Given the description of an element on the screen output the (x, y) to click on. 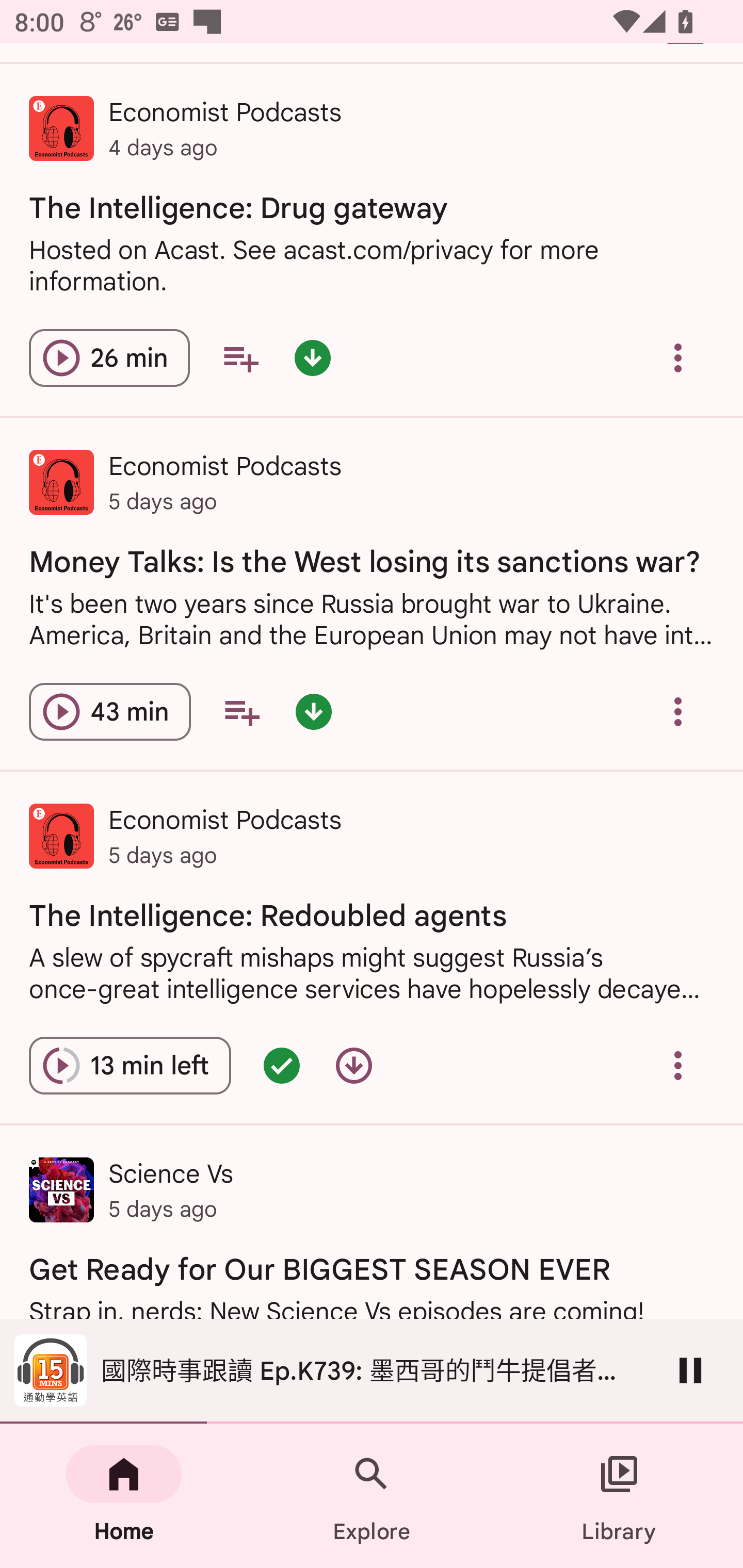
Play episode The Intelligence: Drug gateway 26 min (109, 358)
Add to your queue (240, 358)
Episode downloaded - double tap for options (312, 358)
Overflow menu (677, 358)
Add to your queue (241, 711)
Episode downloaded - double tap for options (313, 711)
Overflow menu (677, 711)
Episode queued - double tap for options (281, 1065)
Download episode (354, 1065)
Overflow menu (677, 1065)
Pause (690, 1370)
Explore (371, 1495)
Library (619, 1495)
